Given the description of an element on the screen output the (x, y) to click on. 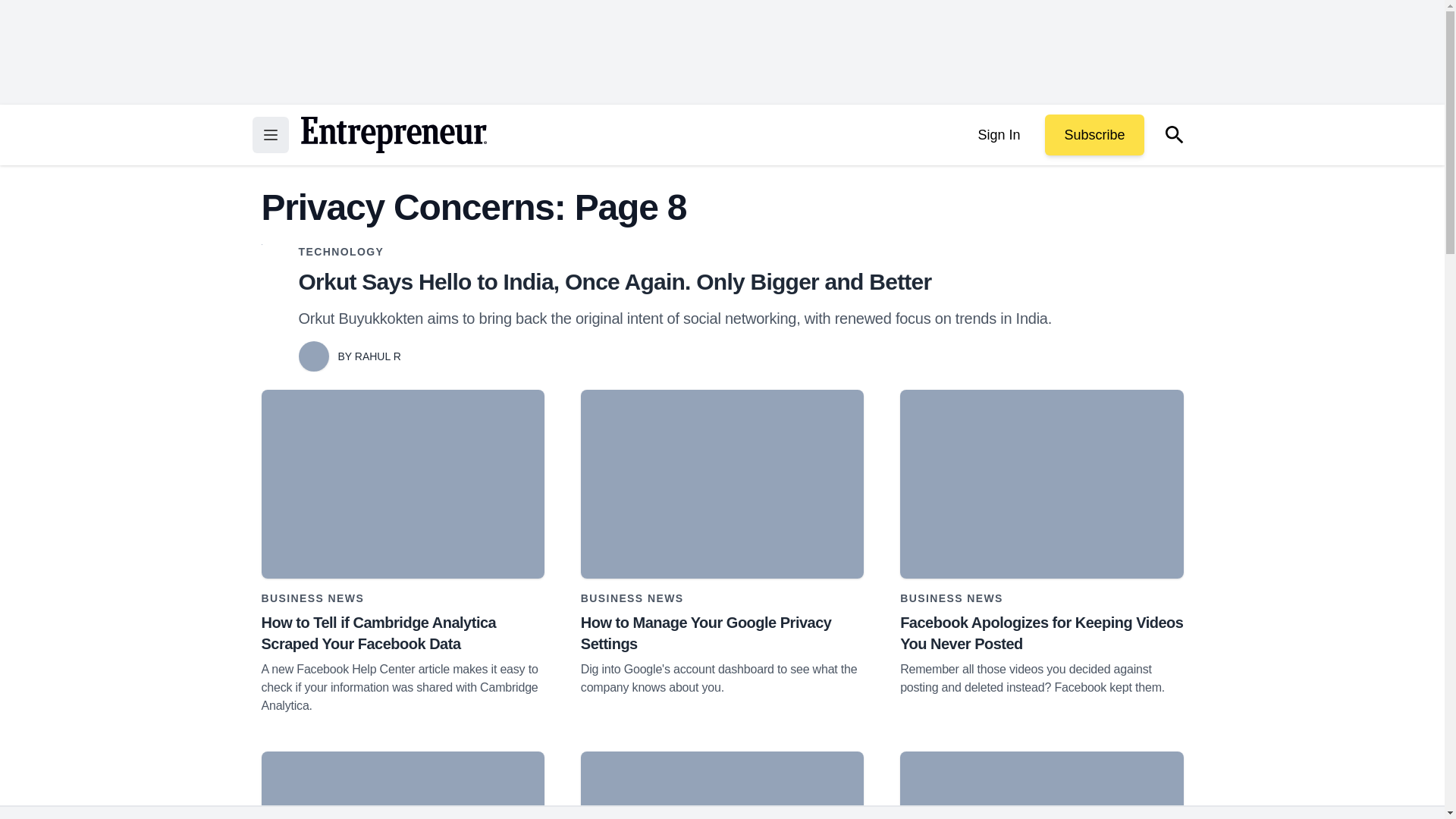
Subscribe (1093, 134)
Return to the home page (392, 135)
Sign In (998, 134)
